Given the description of an element on the screen output the (x, y) to click on. 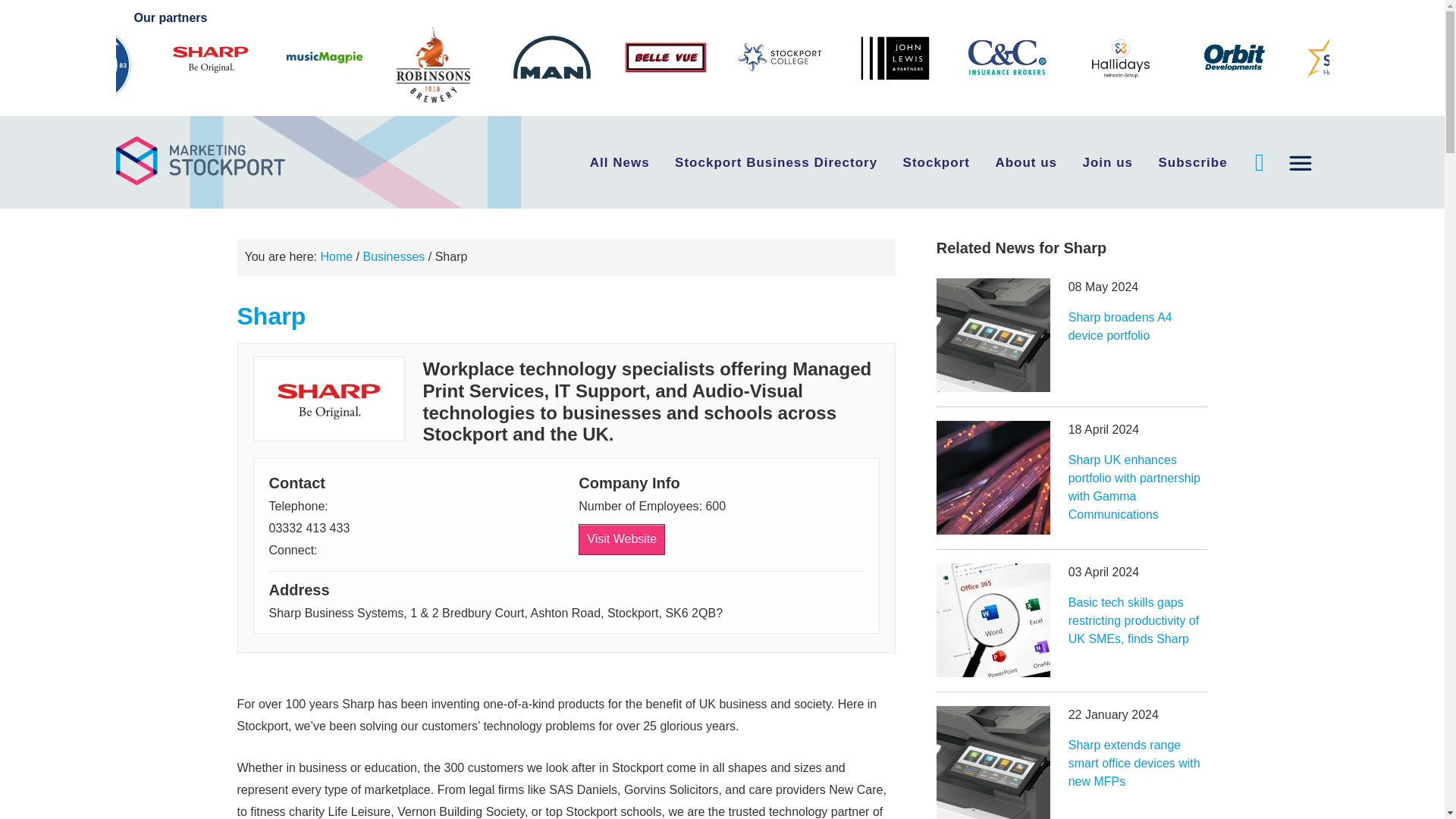
visit website (621, 539)
